Given the description of an element on the screen output the (x, y) to click on. 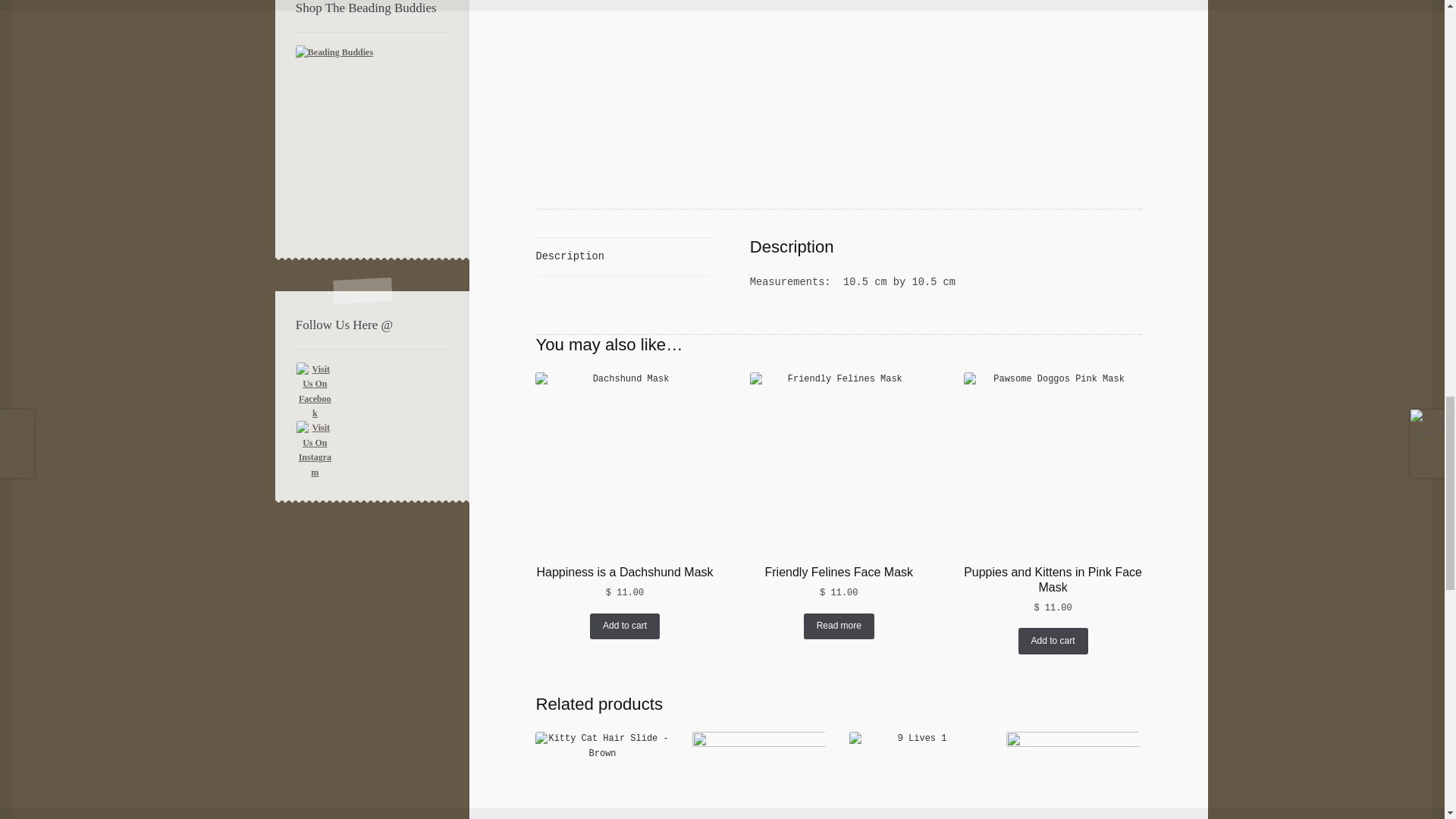
Read more (839, 626)
Add to cart (624, 626)
Visit Us On Facebook (372, 391)
Visit Us On Instagram (372, 449)
Description (624, 257)
Add to cart (1052, 640)
